Given the description of an element on the screen output the (x, y) to click on. 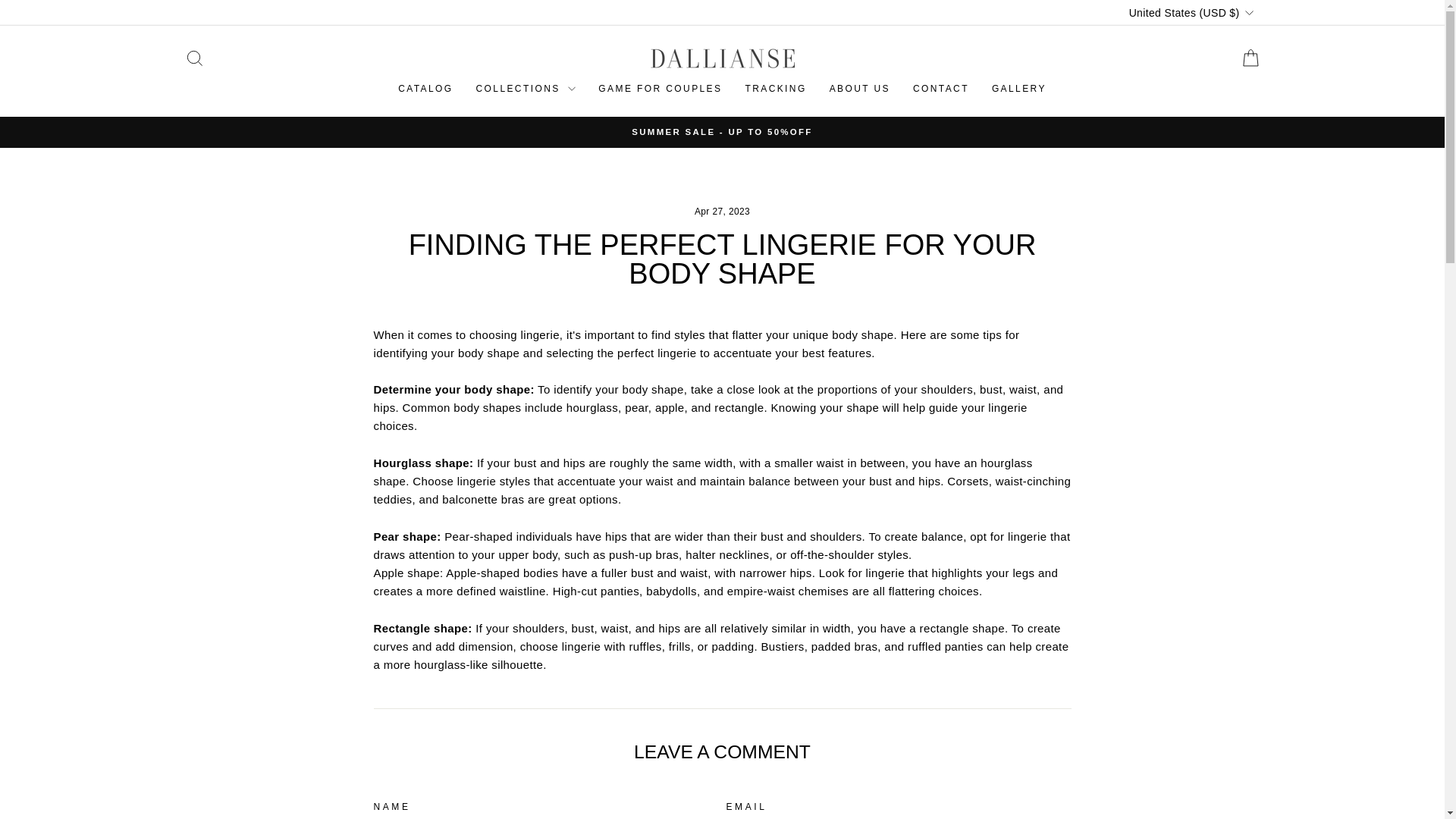
ICON-SEARCH (194, 57)
